Given the description of an element on the screen output the (x, y) to click on. 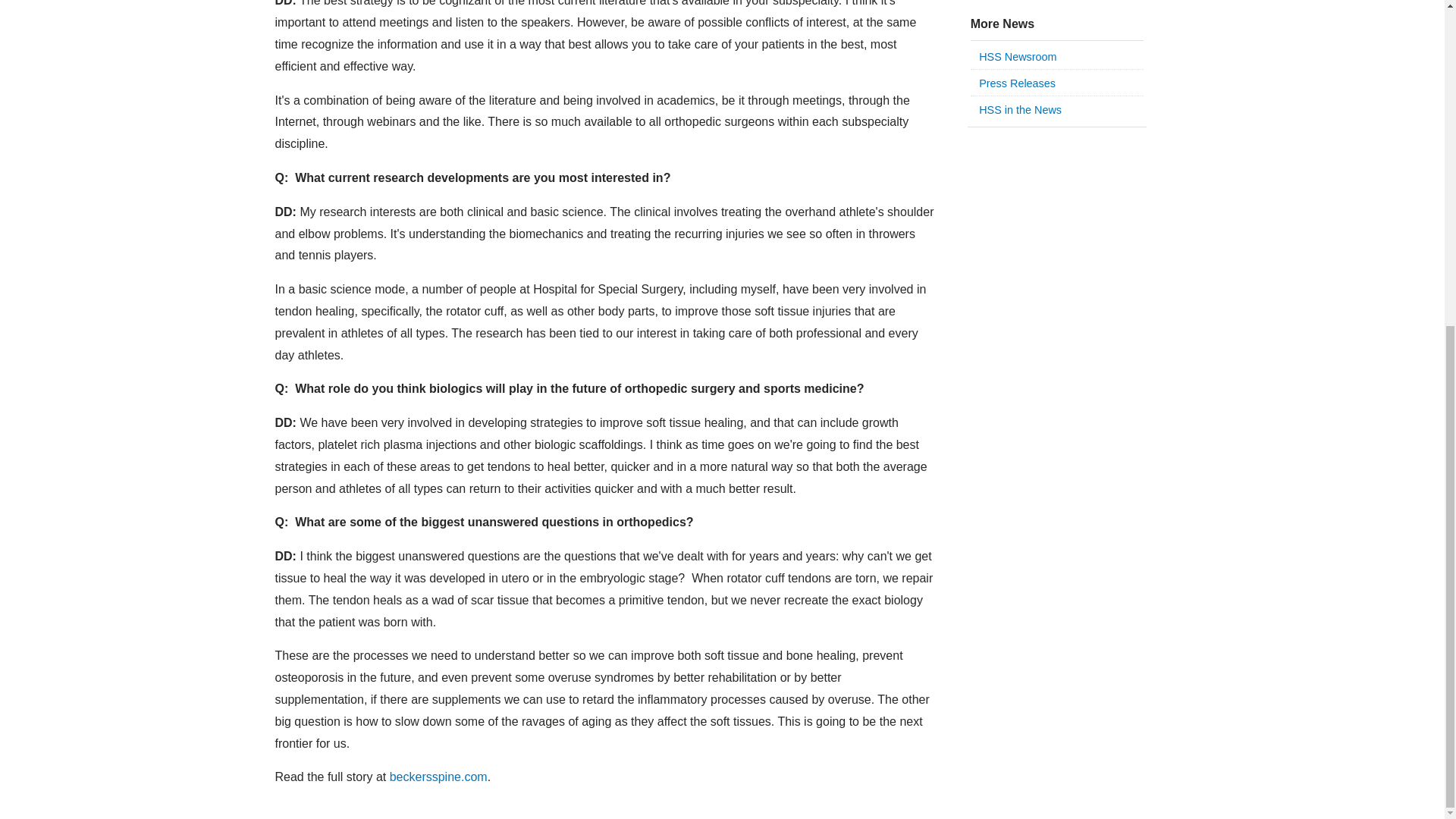
Press Releases (1016, 82)
beckersspine.com (438, 776)
HSS in the News (1019, 110)
HSS Newsroom (1056, 83)
